Given the description of an element on the screen output the (x, y) to click on. 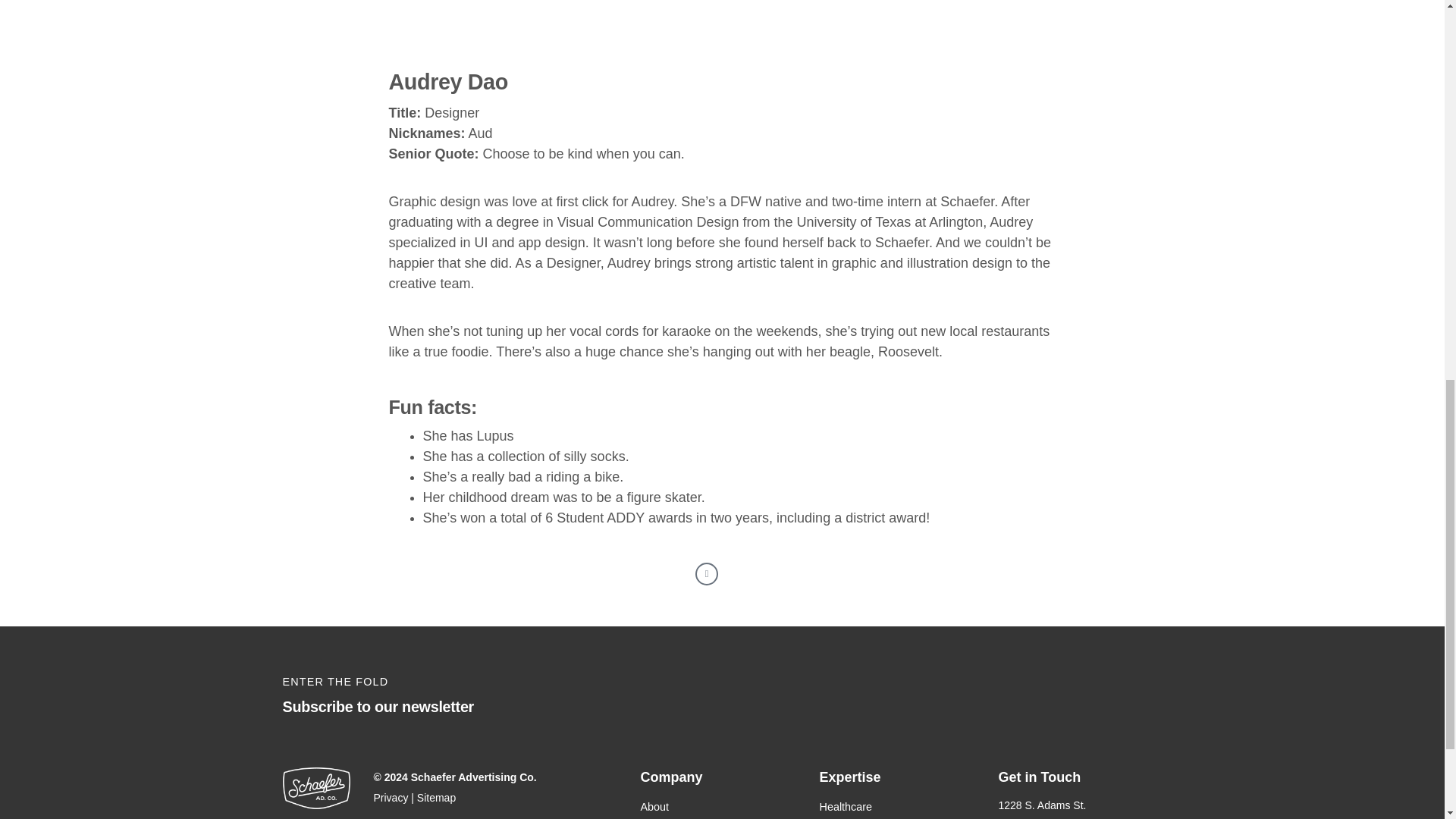
Healthcare (900, 806)
Sitemap (435, 797)
Privacy (389, 797)
About (721, 806)
